Given the description of an element on the screen output the (x, y) to click on. 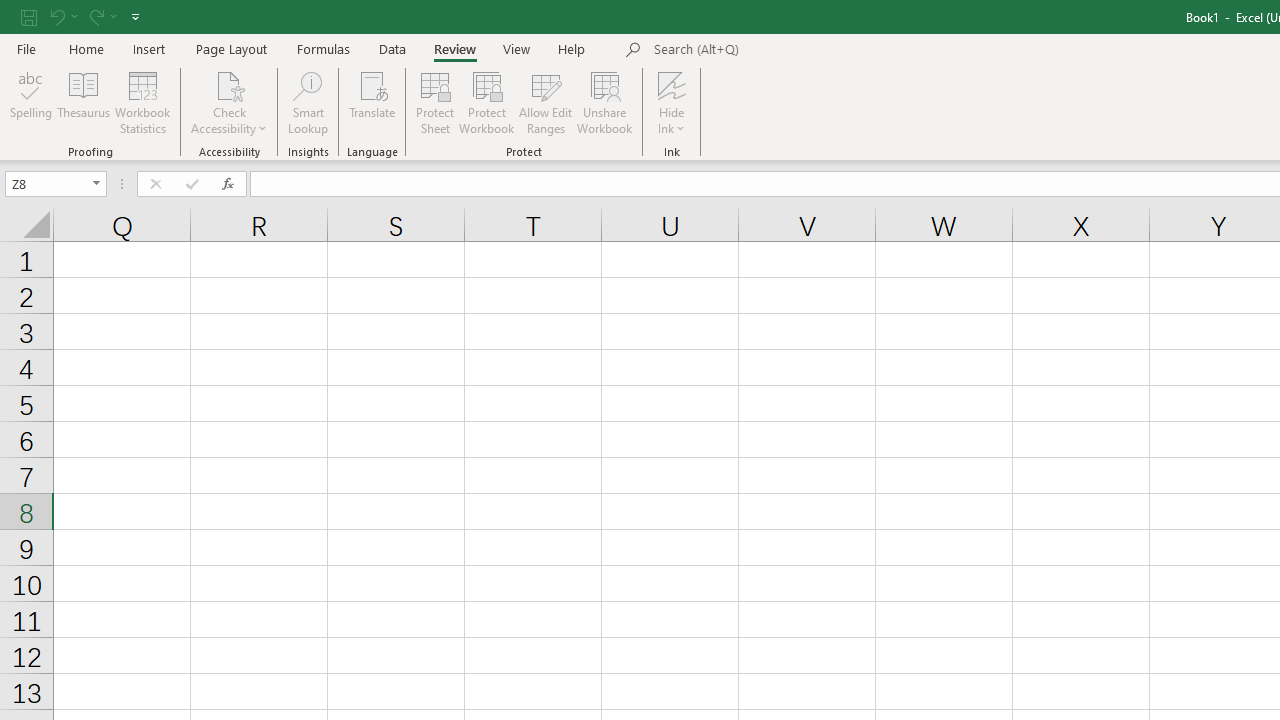
Protect Workbook... (486, 102)
Check Accessibility (229, 84)
Protect Sheet... (434, 102)
Allow Edit Ranges (545, 102)
Hide Ink (671, 102)
